Given the description of an element on the screen output the (x, y) to click on. 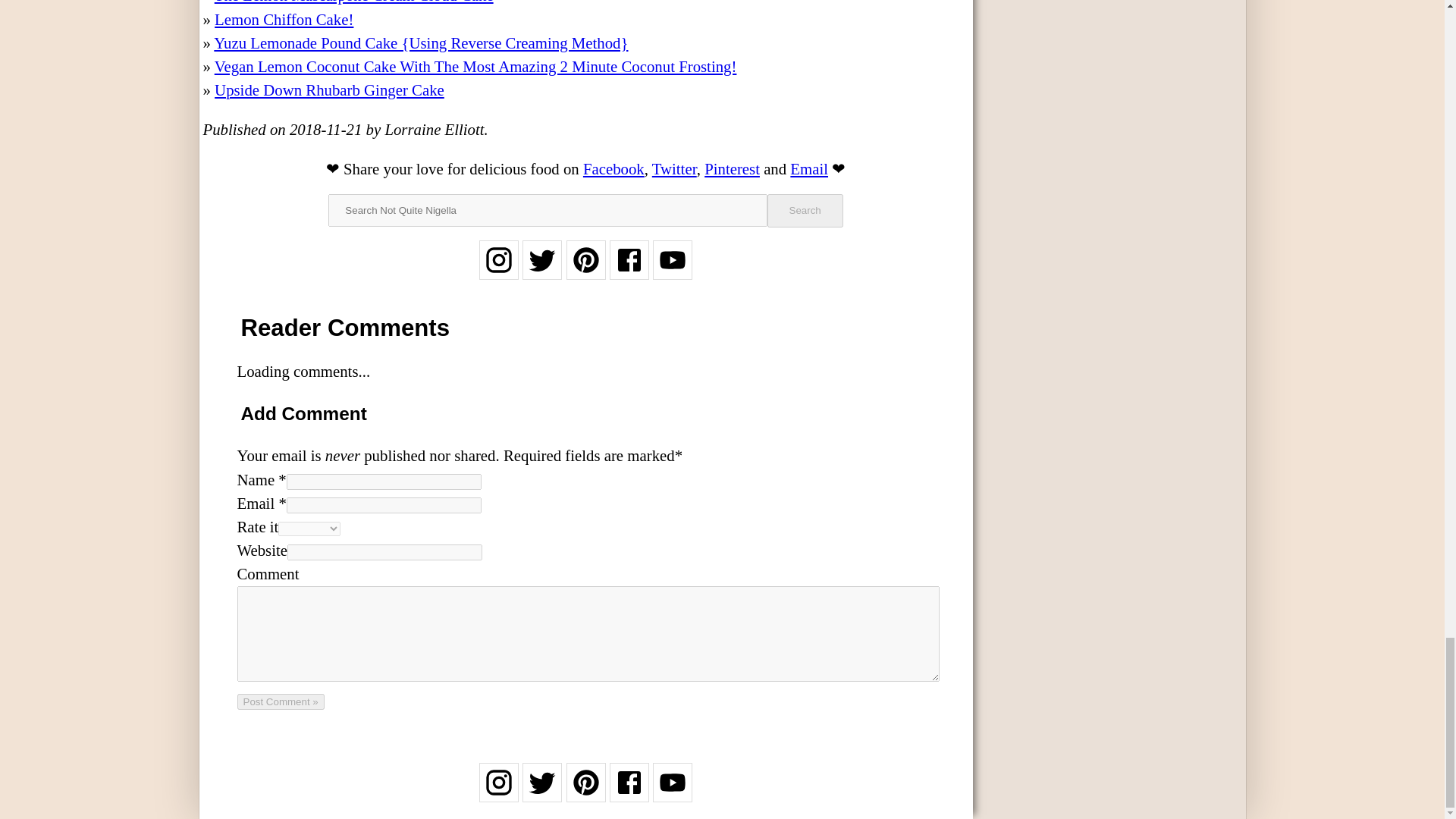
Follow on Instagram (498, 791)
Lemon Chiffon Cake! (283, 18)
Pin it (732, 168)
Email (809, 168)
Search (805, 210)
Follow on YouTube (672, 269)
Email (809, 168)
Search (805, 210)
Upside Down Rhubarb Ginger Cake (329, 89)
Follow on Twitter (542, 791)
